Given the description of an element on the screen output the (x, y) to click on. 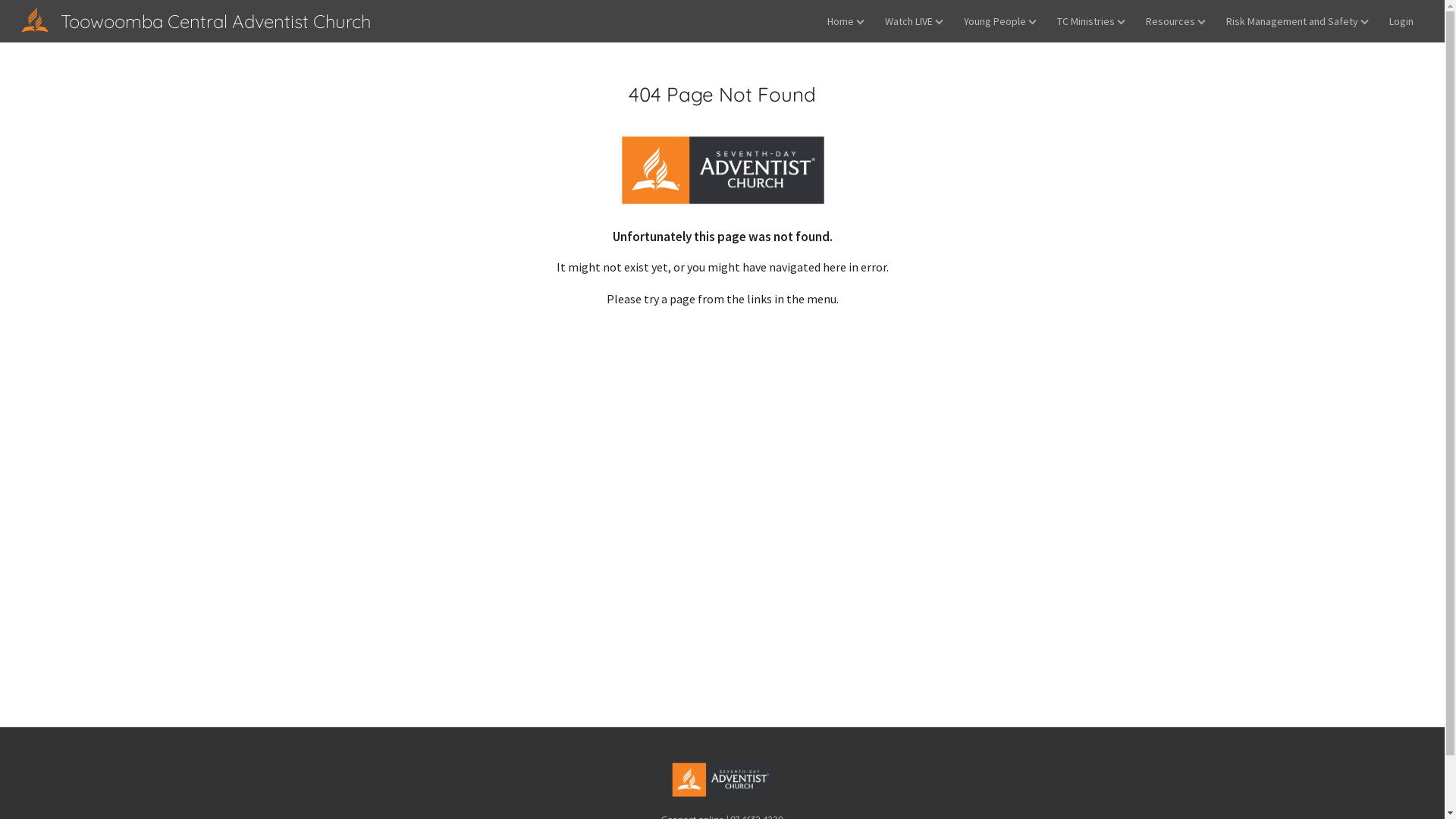
Watch LIVE Element type: text (913, 20)
Resources Element type: text (1175, 20)
Home Element type: text (845, 20)
Login Element type: text (1400, 20)
Risk Management and Safety Element type: text (1297, 20)
TC Ministries Element type: text (1090, 20)
Young People Element type: text (999, 20)
